Given the description of an element on the screen output the (x, y) to click on. 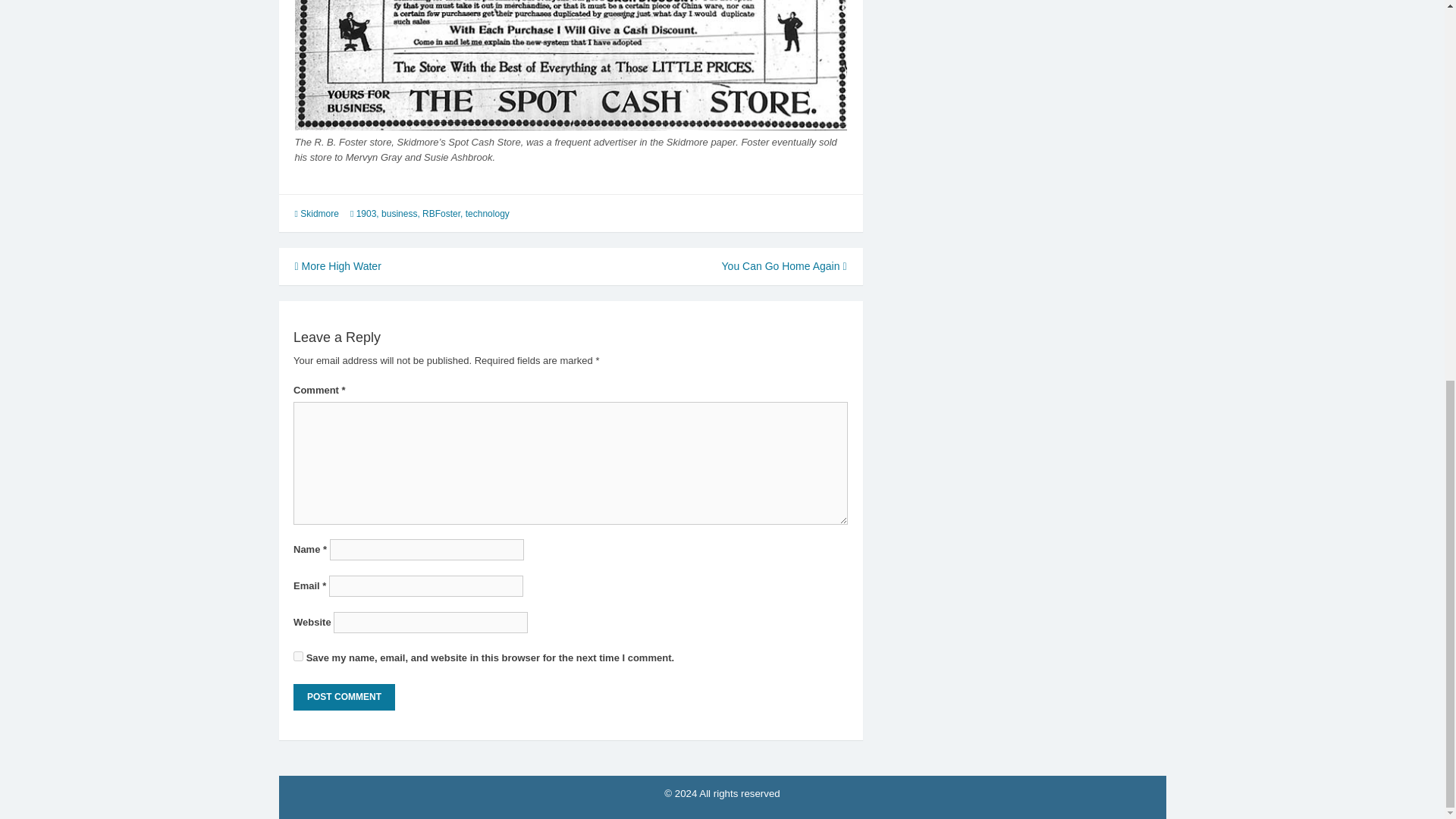
1903 (366, 213)
Post Comment (344, 696)
business (398, 213)
More High Water (337, 265)
Skidmore (319, 213)
RBFoster (441, 213)
technology (487, 213)
Post Comment (344, 696)
You Can Go Home Again (784, 265)
yes (298, 655)
